Given the description of an element on the screen output the (x, y) to click on. 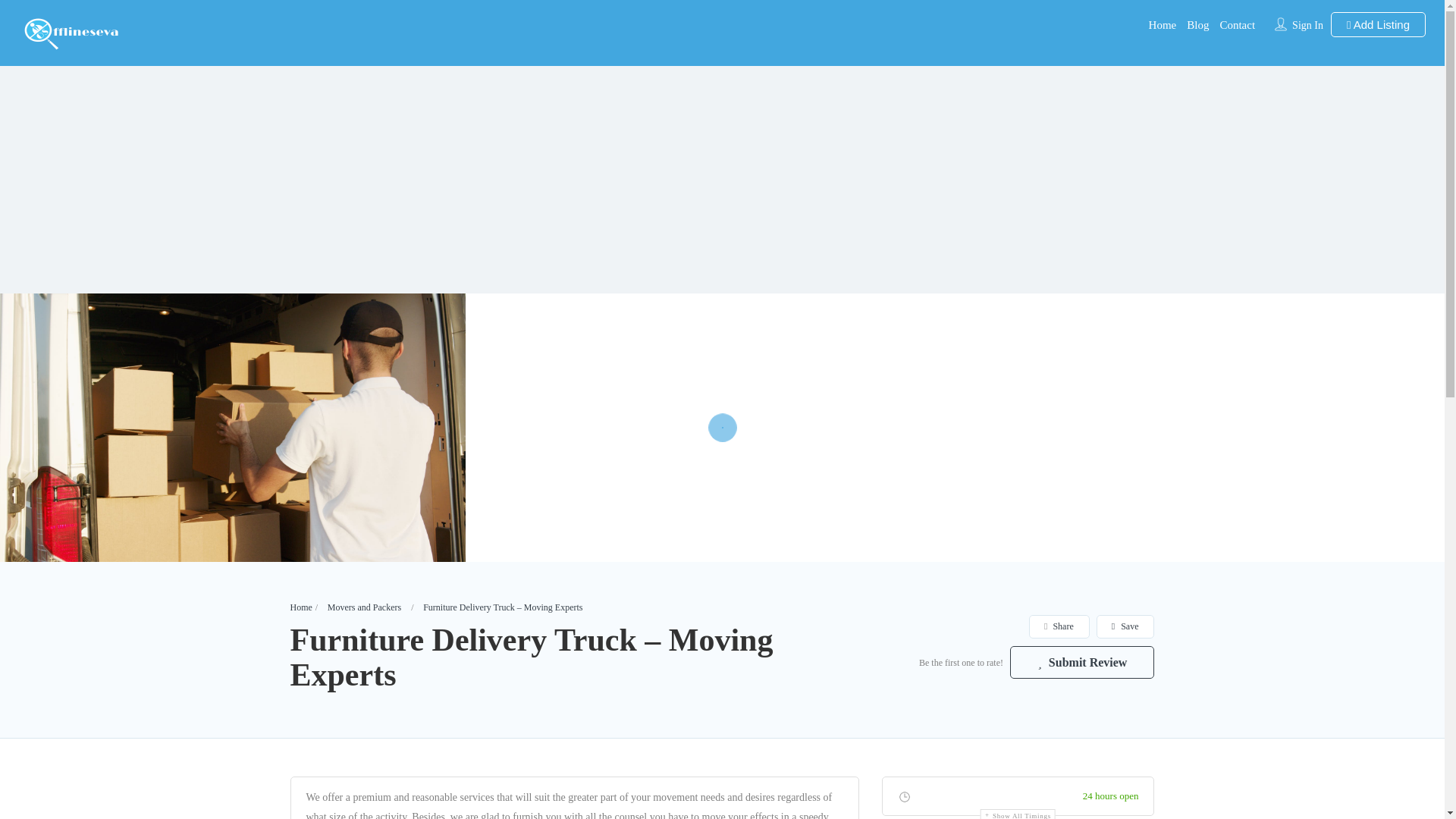
Contact (1237, 24)
Submit (413, 502)
Sign In (1307, 25)
Home (1162, 24)
Add Listing (1377, 24)
Blog (1197, 24)
